Given the description of an element on the screen output the (x, y) to click on. 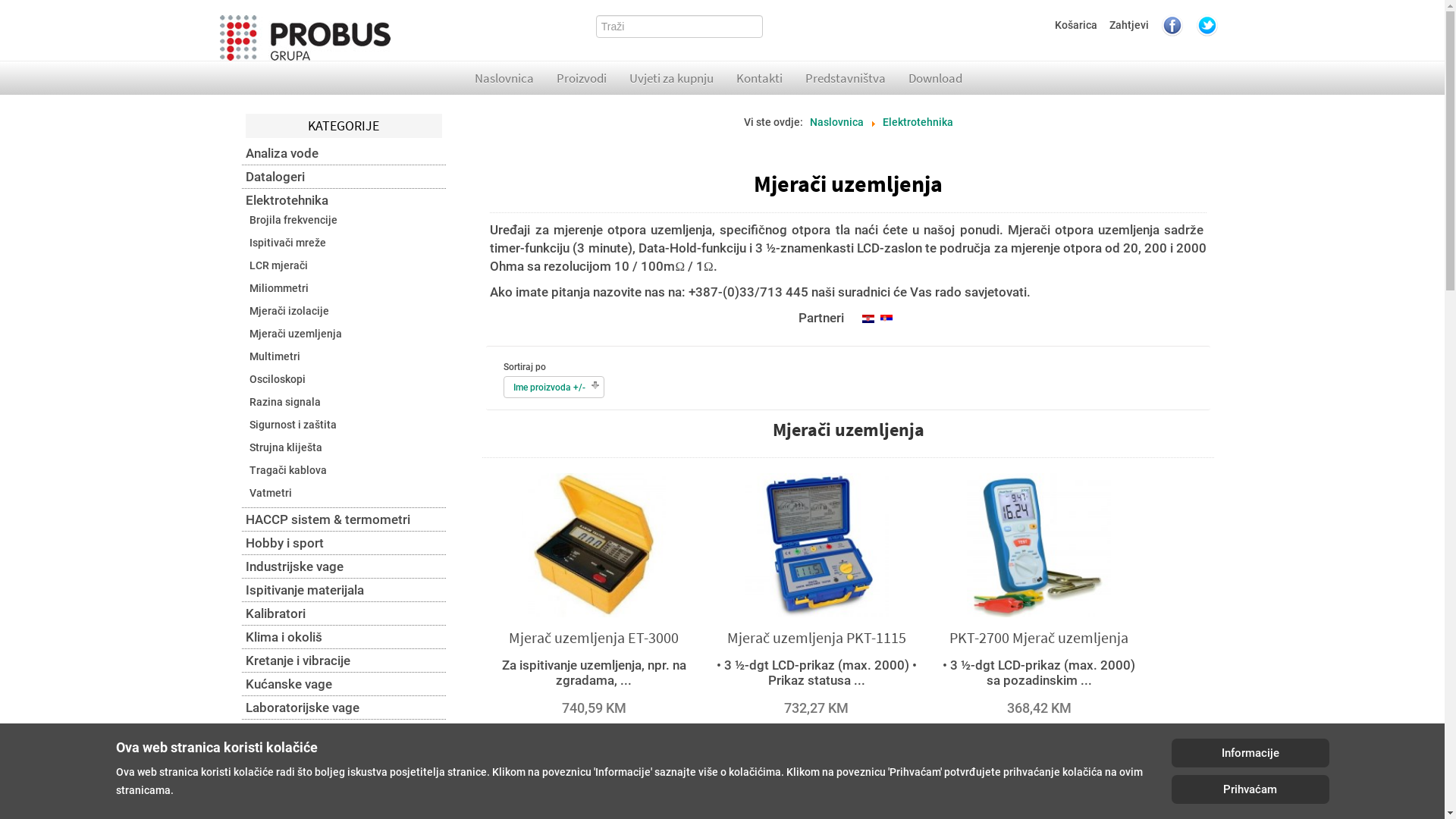
Vatmetri Element type: text (270, 492)
Multimetri Element type: text (274, 356)
Osciloskopi Element type: text (277, 379)
Naslovnica Element type: text (504, 77)
Ispitivanje materijala Element type: text (343, 589)
Elektrotehnika Element type: text (343, 199)
Kretanje i vibracije Element type: text (343, 660)
Detalji proizvoda Element type: text (593, 742)
Miliommetri Element type: text (278, 288)
Datalogeri Element type: text (343, 176)
Analiza vode Element type: text (343, 152)
Kalibratori Element type: text (343, 613)
Hobby i sport Element type: text (343, 542)
Elektrotehnika Element type: text (917, 122)
Probus Element type: hover (304, 37)
Razina signala Element type: text (284, 401)
Informacije Element type: text (1249, 752)
Uvjeti za kupnju Element type: text (671, 77)
Kontakti Element type: text (758, 77)
Naslovnica Element type: text (836, 122)
Download Element type: text (935, 77)
Laboratorijske vage Element type: text (343, 707)
Industrijske vage Element type: text (343, 566)
Ista stranica u Srbiji Element type: hover (886, 318)
HACCP sistem & termometri Element type: text (343, 519)
Zahtjevi Element type: text (1128, 24)
Ista stranica u Hrvatskoj Element type: hover (868, 318)
Ime proizvoda +/- Element type: text (549, 387)
Proizvodi Element type: text (581, 77)
Detalji proizvoda Element type: text (816, 742)
Brojila frekvencije Element type: text (293, 219)
Detalji proizvoda Element type: text (1038, 742)
